Given the description of an element on the screen output the (x, y) to click on. 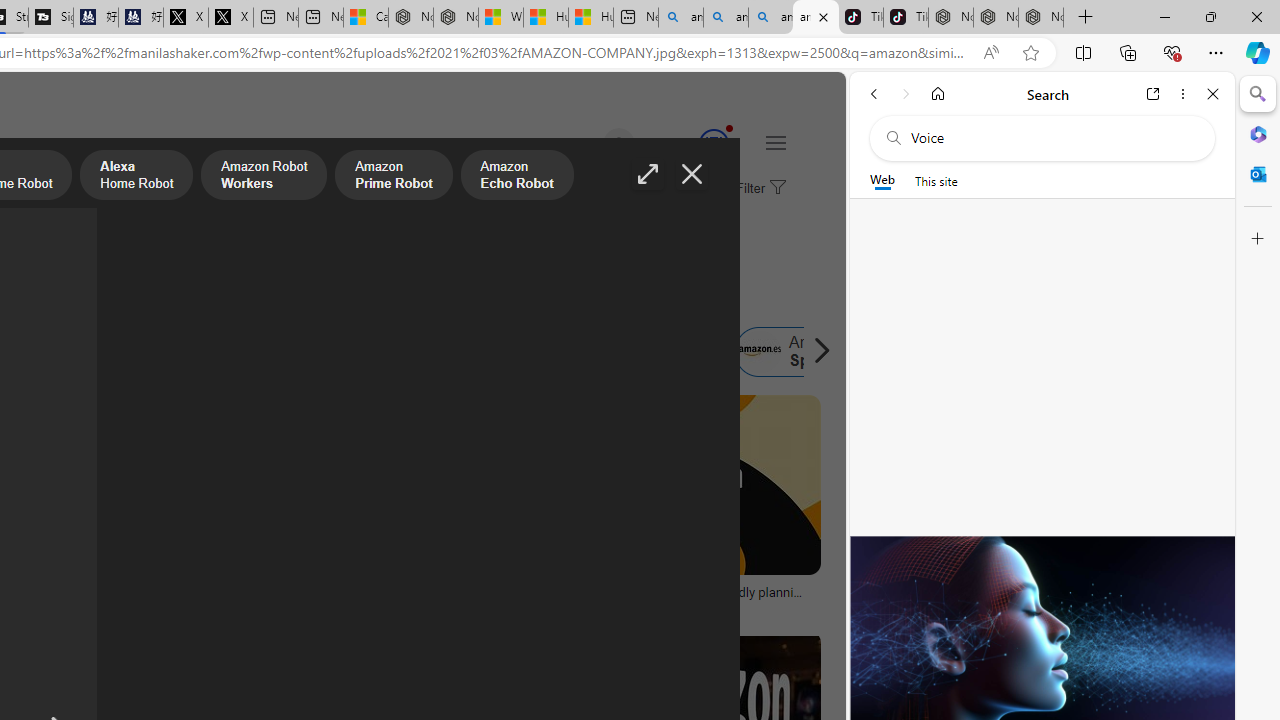
Minimize (1164, 16)
Image result for amazon (685, 485)
Amazon Spain (800, 351)
Amazon Logo (PNG e SVG) Download Vetorial Transparente (98, 598)
Settings and more (Alt+F) (1215, 52)
Settings and quick links (775, 142)
Nordace Siena Pro 15 Backpack (995, 17)
Microsoft 365 (1258, 133)
X (230, 17)
Amazon.com.au (343, 351)
Back (874, 93)
Close image (692, 173)
